Given the description of an element on the screen output the (x, y) to click on. 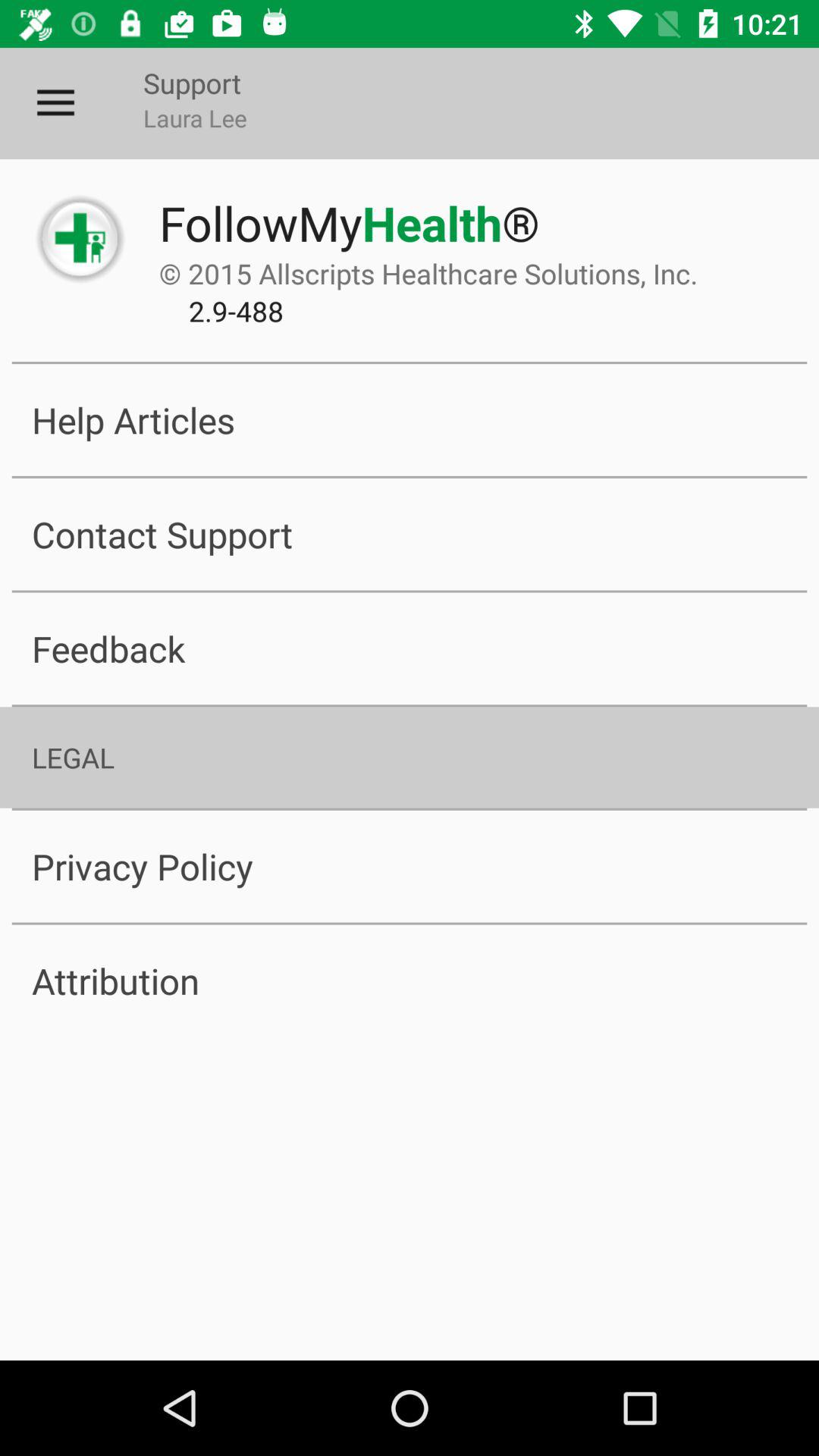
launch the legal icon (409, 757)
